Given the description of an element on the screen output the (x, y) to click on. 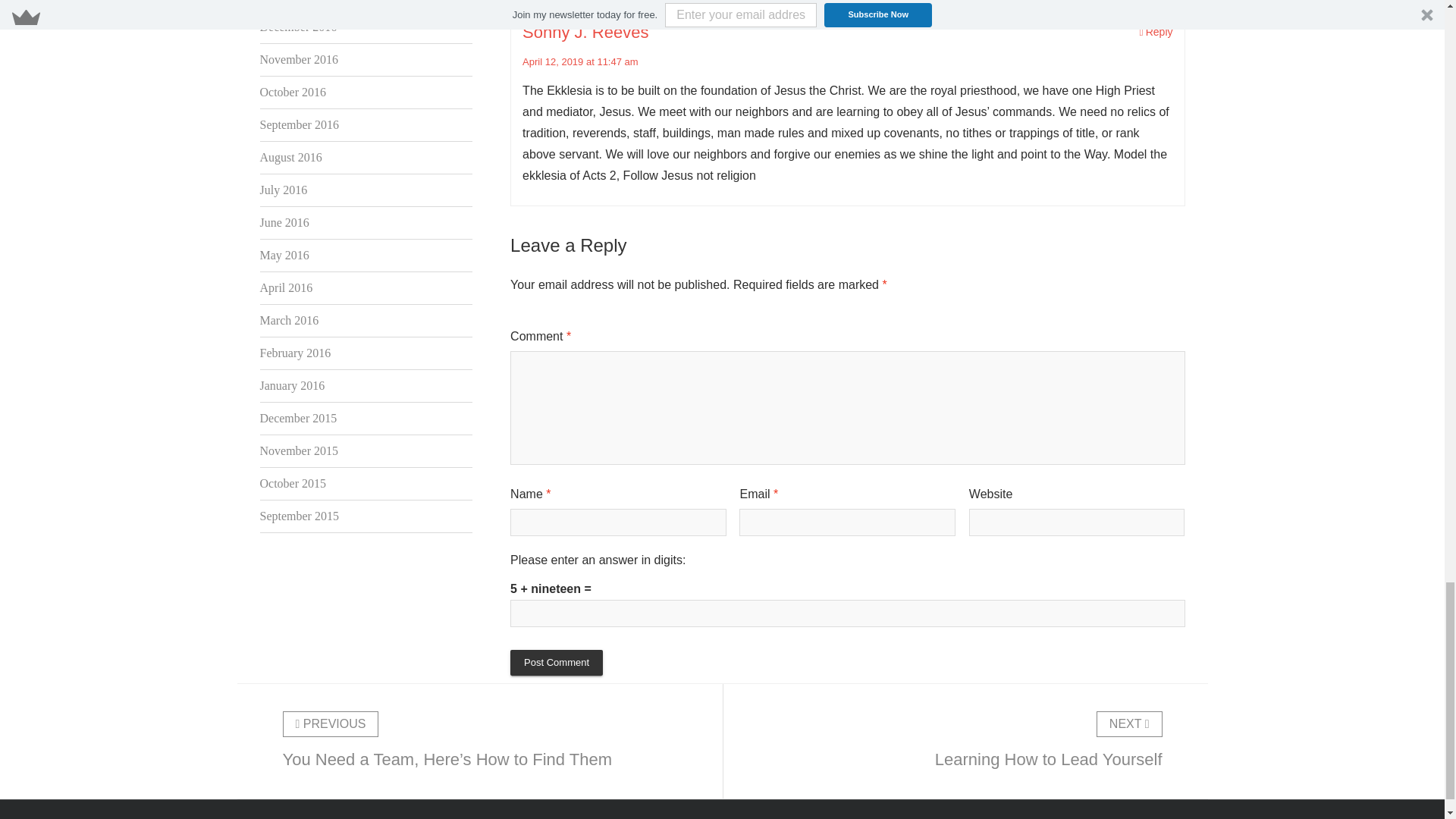
Post Comment (556, 662)
